Given the description of an element on the screen output the (x, y) to click on. 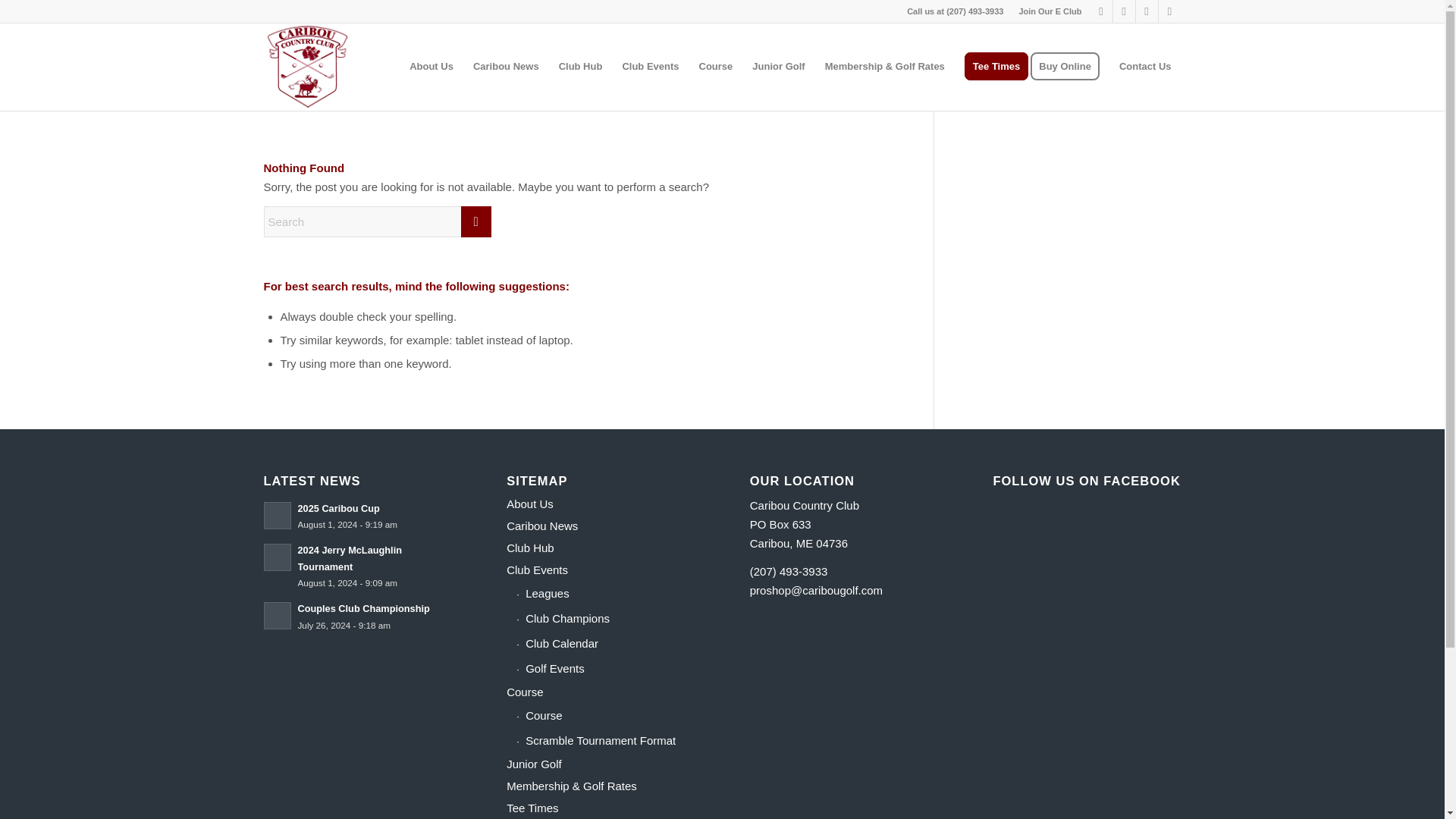
Couples Club Championship (363, 608)
LinkedIn (1169, 11)
Club Events (600, 570)
Read: 2024 Jerry McLaughlin Tournament (349, 558)
About Us (600, 504)
2024 Jerry McLaughlin Tournament (349, 558)
Join Our E Club (1049, 11)
X (1101, 11)
Instagram (1146, 11)
Tee Times (996, 66)
Leagues (605, 593)
2025 Caribou Cup (337, 508)
Caribou News (505, 66)
Read: Couples Club Championship (363, 608)
Club Hub (600, 548)
